Given the description of an element on the screen output the (x, y) to click on. 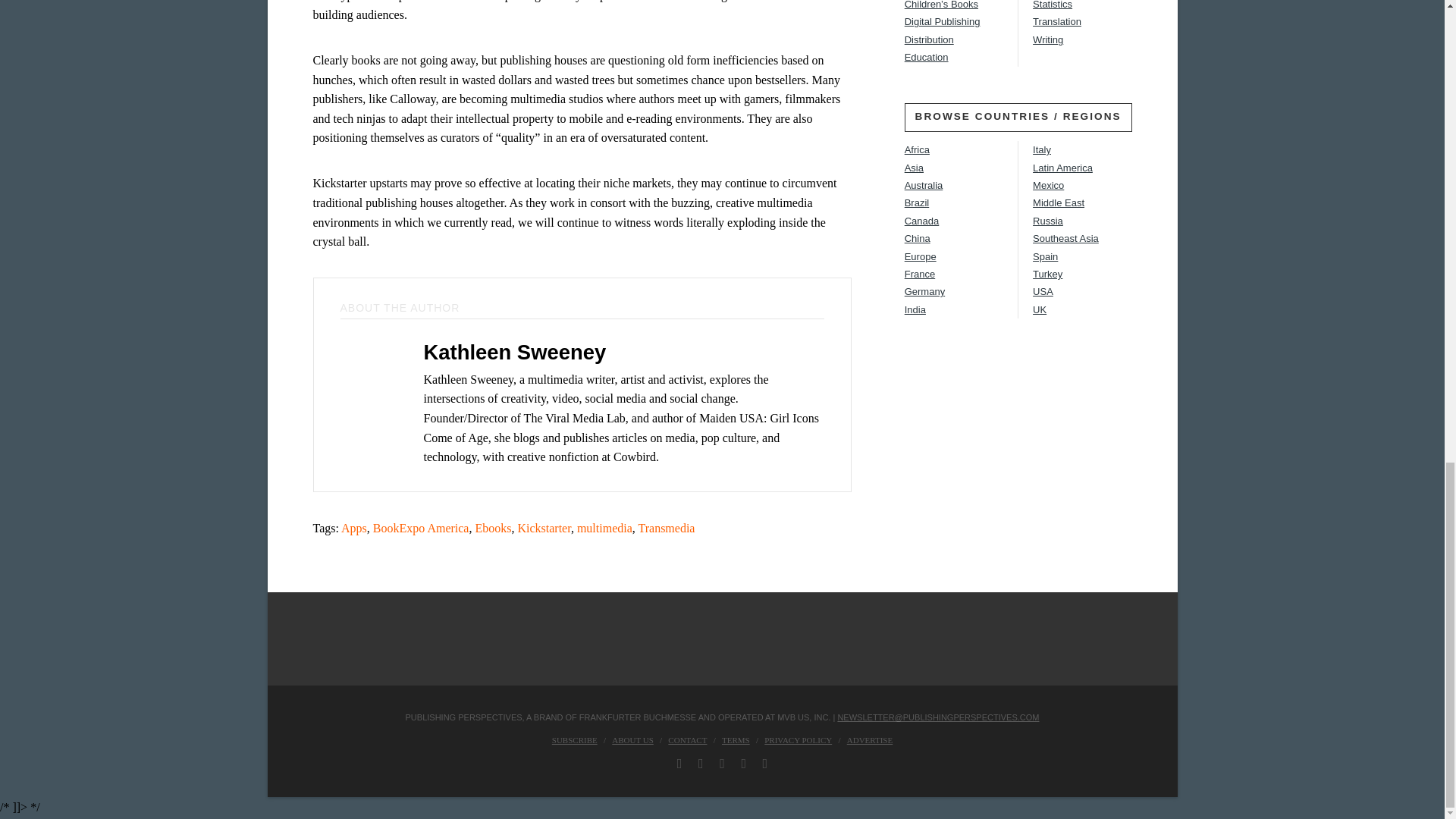
multimedia (603, 527)
BookExpo America (420, 527)
Apps (353, 527)
Transmedia (667, 527)
Ebooks (492, 527)
Kickstarter (543, 527)
Terms and Conditions (735, 739)
Subscribe to Publishing Perspectives (573, 739)
